Given the description of an element on the screen output the (x, y) to click on. 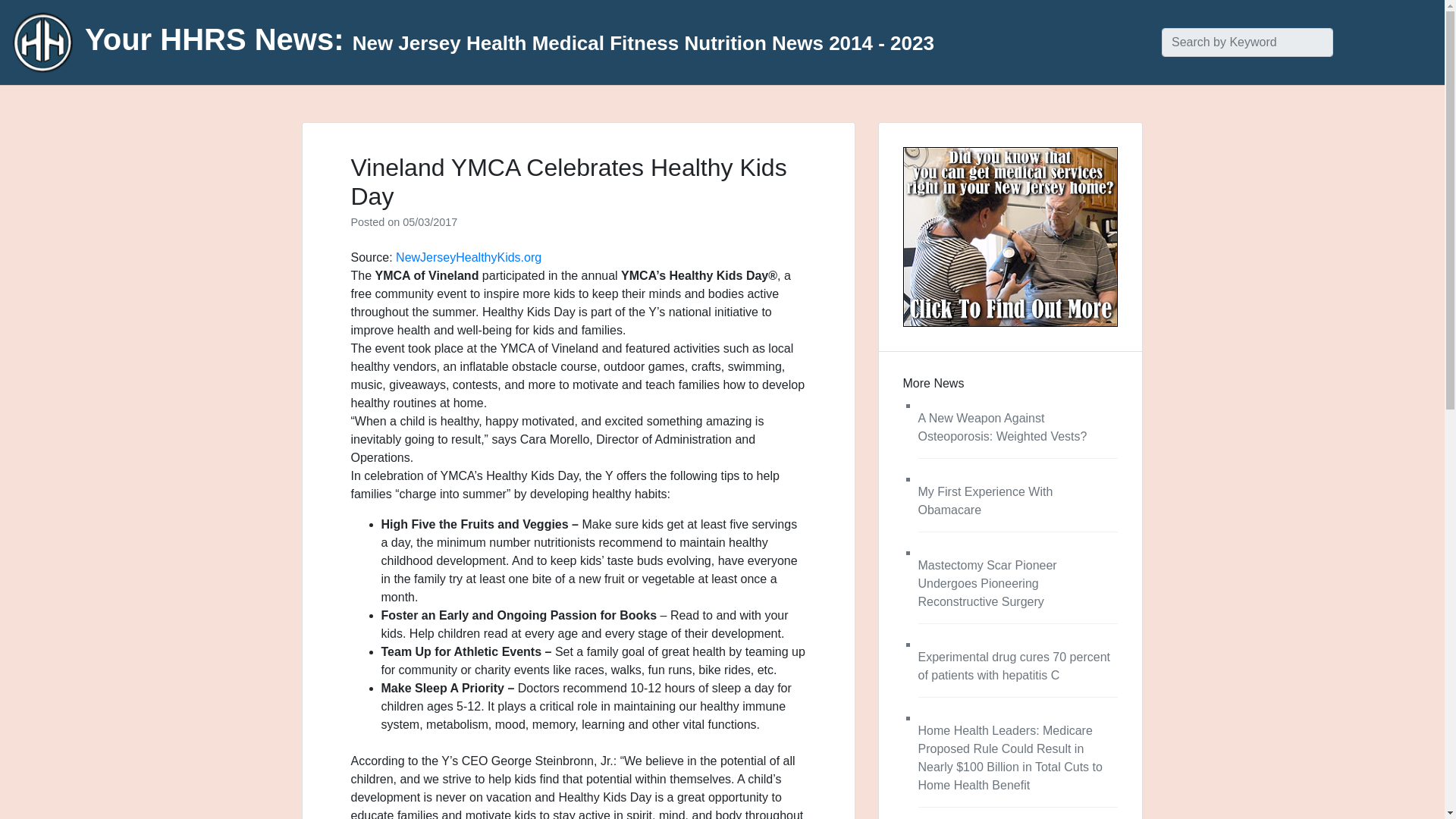
My First Experience With Obamacare (984, 500)
NewJerseyHealthyKids.org (468, 256)
A New Weapon Against Osteoporosis: Weighted Vests? (1001, 427)
